Given the description of an element on the screen output the (x, y) to click on. 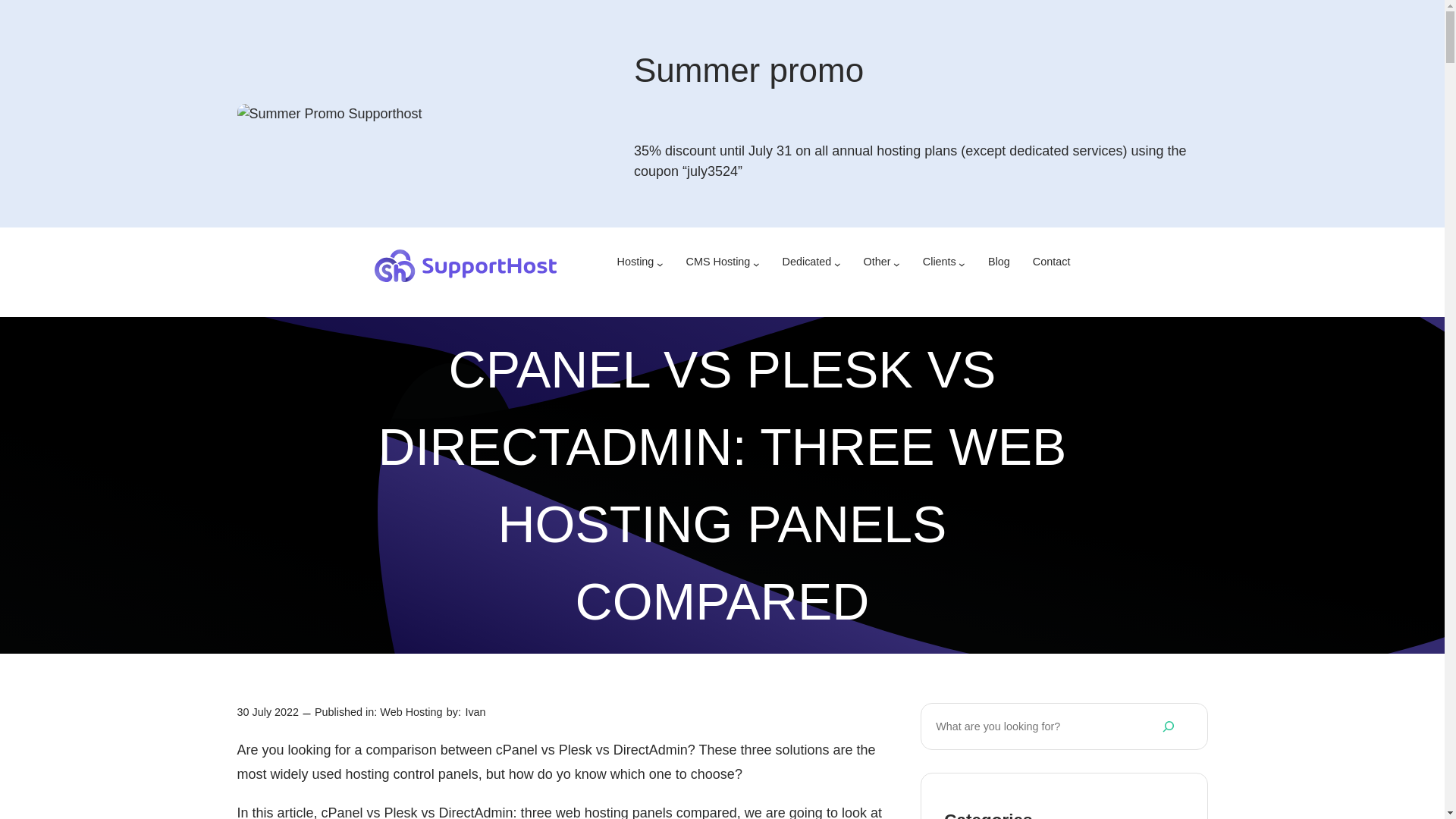
Clients (939, 265)
Hosting (635, 265)
CMS Hosting (718, 265)
Other (877, 265)
Dedicated (807, 265)
